Given the description of an element on the screen output the (x, y) to click on. 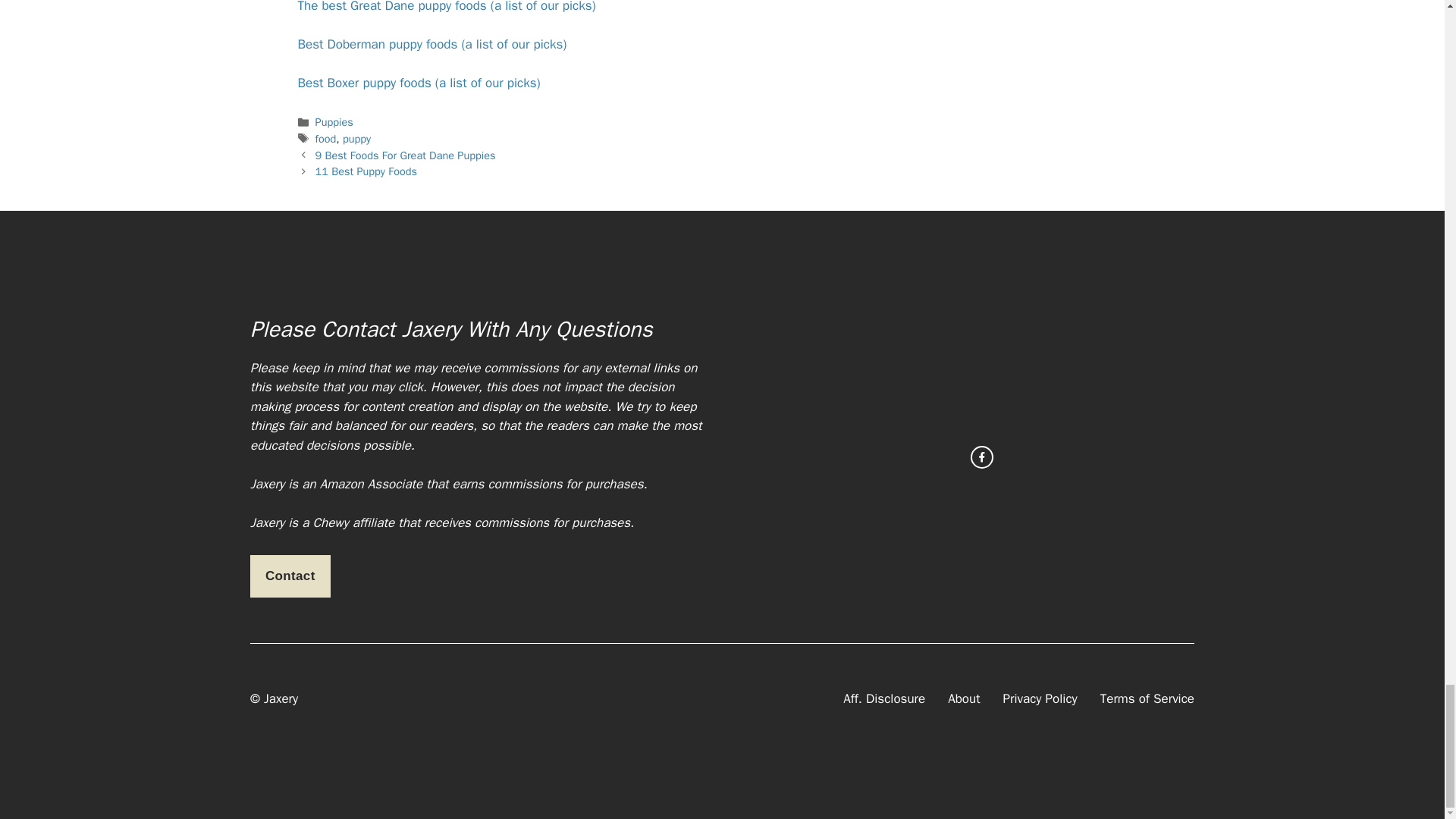
Puppies (334, 121)
11 Best Puppy Foods (365, 171)
food (325, 138)
9 Best Foods For Great Dane Puppies (405, 155)
puppy (356, 138)
